Given the description of an element on the screen output the (x, y) to click on. 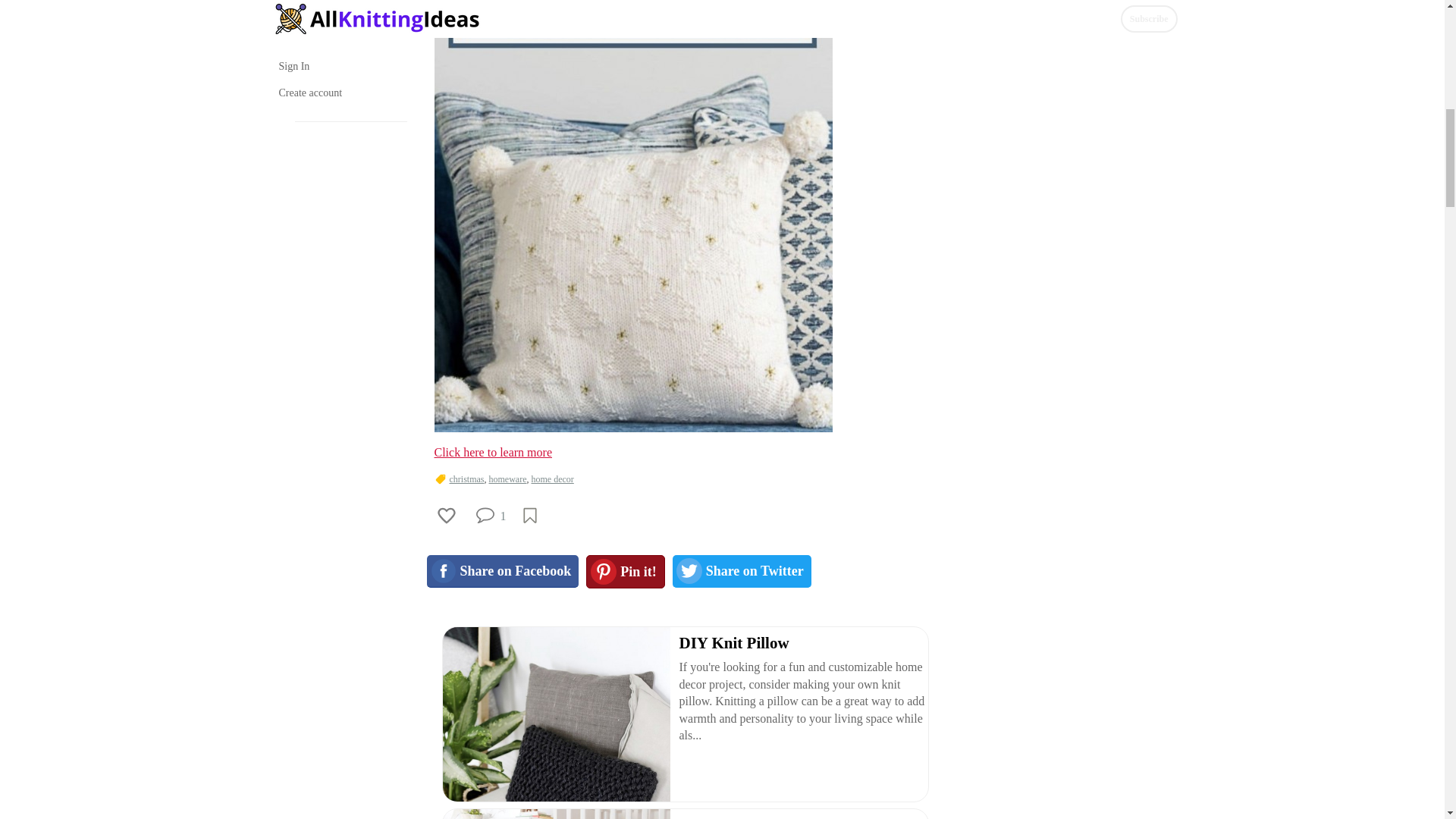
Pin it! (625, 571)
Click here to learn more (492, 451)
homeware (506, 479)
Share on Facebook (502, 571)
home decor (552, 479)
christmas (465, 479)
Share on Twitter (741, 571)
